Given the description of an element on the screen output the (x, y) to click on. 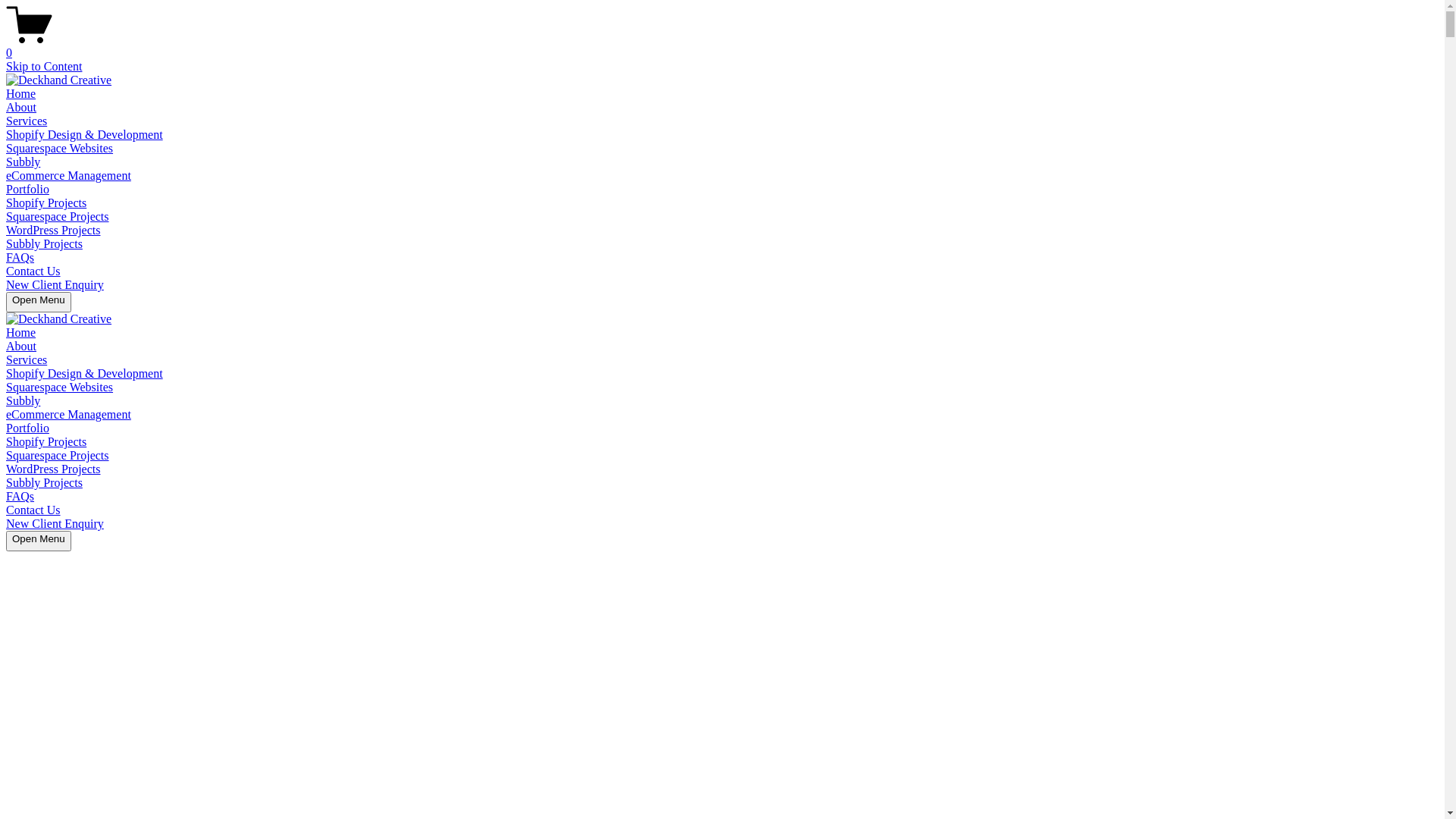
Shopify Projects Element type: text (46, 202)
Portfolio Element type: text (27, 427)
Subbly Element type: text (23, 400)
Open Menu Element type: text (38, 540)
Skip to Content Element type: text (43, 65)
0 Element type: text (722, 45)
Squarespace Projects Element type: text (57, 454)
WordPress Projects Element type: text (53, 468)
Shopify Design & Development Element type: text (84, 373)
New Client Enquiry Element type: text (54, 523)
Contact Us Element type: text (33, 270)
Portfolio Element type: text (27, 188)
Contact Us Element type: text (33, 509)
Subbly Projects Element type: text (44, 243)
About Element type: text (21, 345)
Squarespace Websites Element type: text (59, 386)
Squarespace Websites Element type: text (59, 147)
Shopify Design & Development Element type: text (84, 134)
Squarespace Projects Element type: text (57, 216)
New Client Enquiry Element type: text (54, 284)
eCommerce Management Element type: text (68, 413)
Open Menu Element type: text (38, 301)
Shopify Projects Element type: text (46, 441)
eCommerce Management Element type: text (68, 175)
FAQs Element type: text (20, 257)
Services Element type: text (26, 359)
WordPress Projects Element type: text (53, 229)
About Element type: text (21, 106)
Subbly Projects Element type: text (44, 482)
Subbly Element type: text (23, 161)
Services Element type: text (26, 120)
FAQs Element type: text (20, 495)
Home Element type: text (20, 332)
Home Element type: text (20, 93)
